Given the description of an element on the screen output the (x, y) to click on. 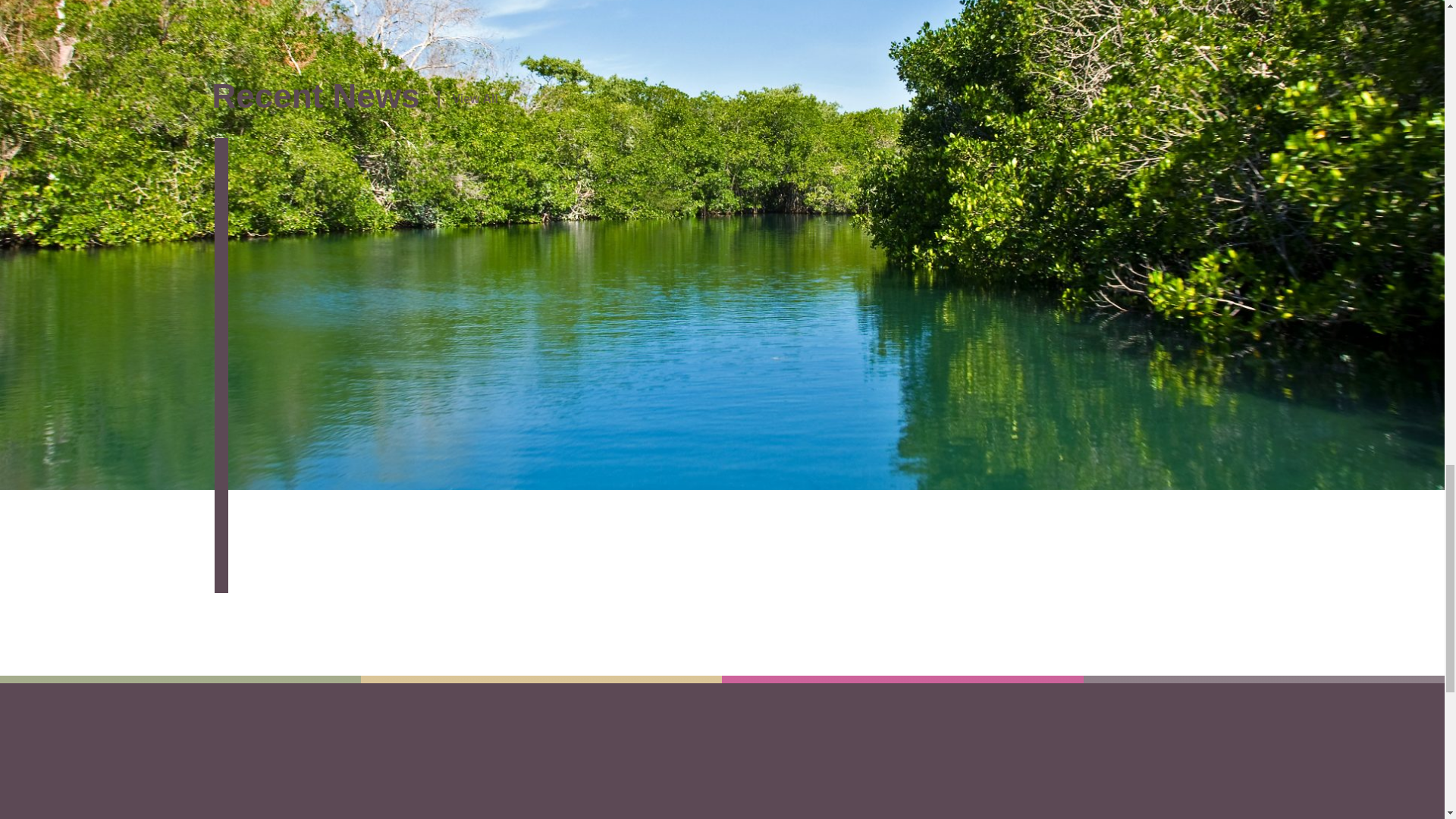
View All (467, 98)
